Given the description of an element on the screen output the (x, y) to click on. 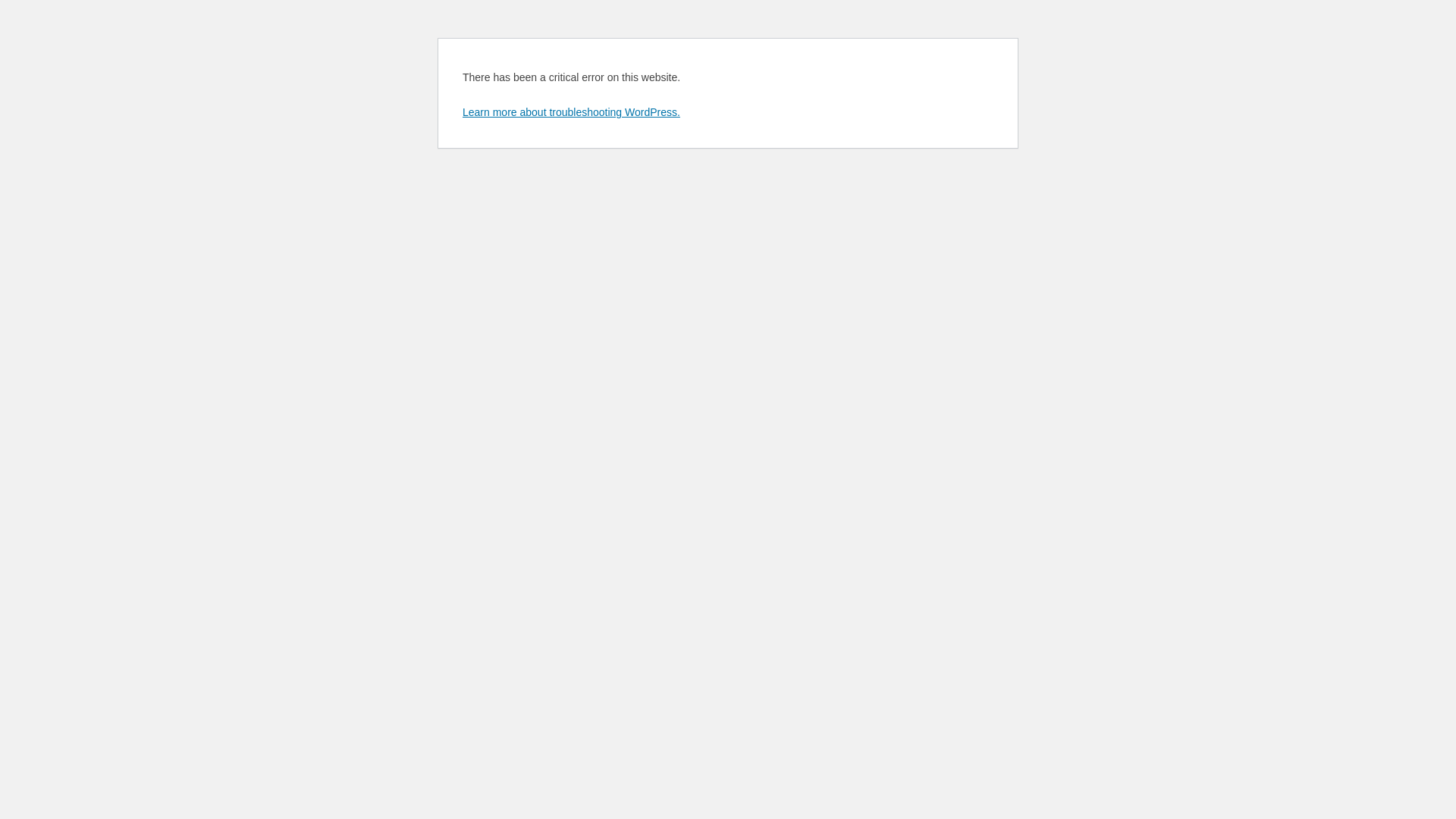
Learn more about troubleshooting WordPress. Element type: text (571, 112)
